Given the description of an element on the screen output the (x, y) to click on. 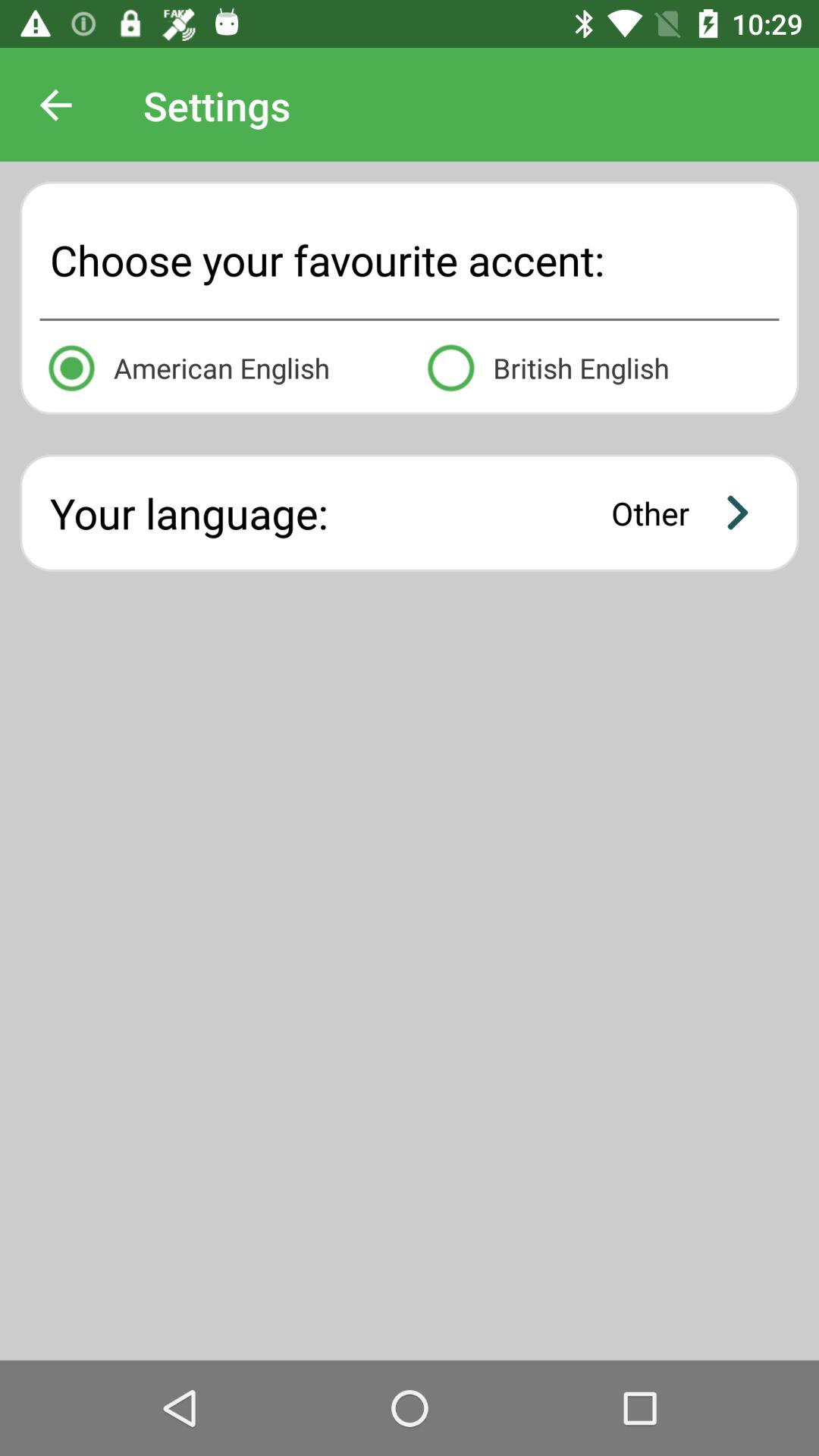
choose the icon above the your language: icon (219, 365)
